Given the description of an element on the screen output the (x, y) to click on. 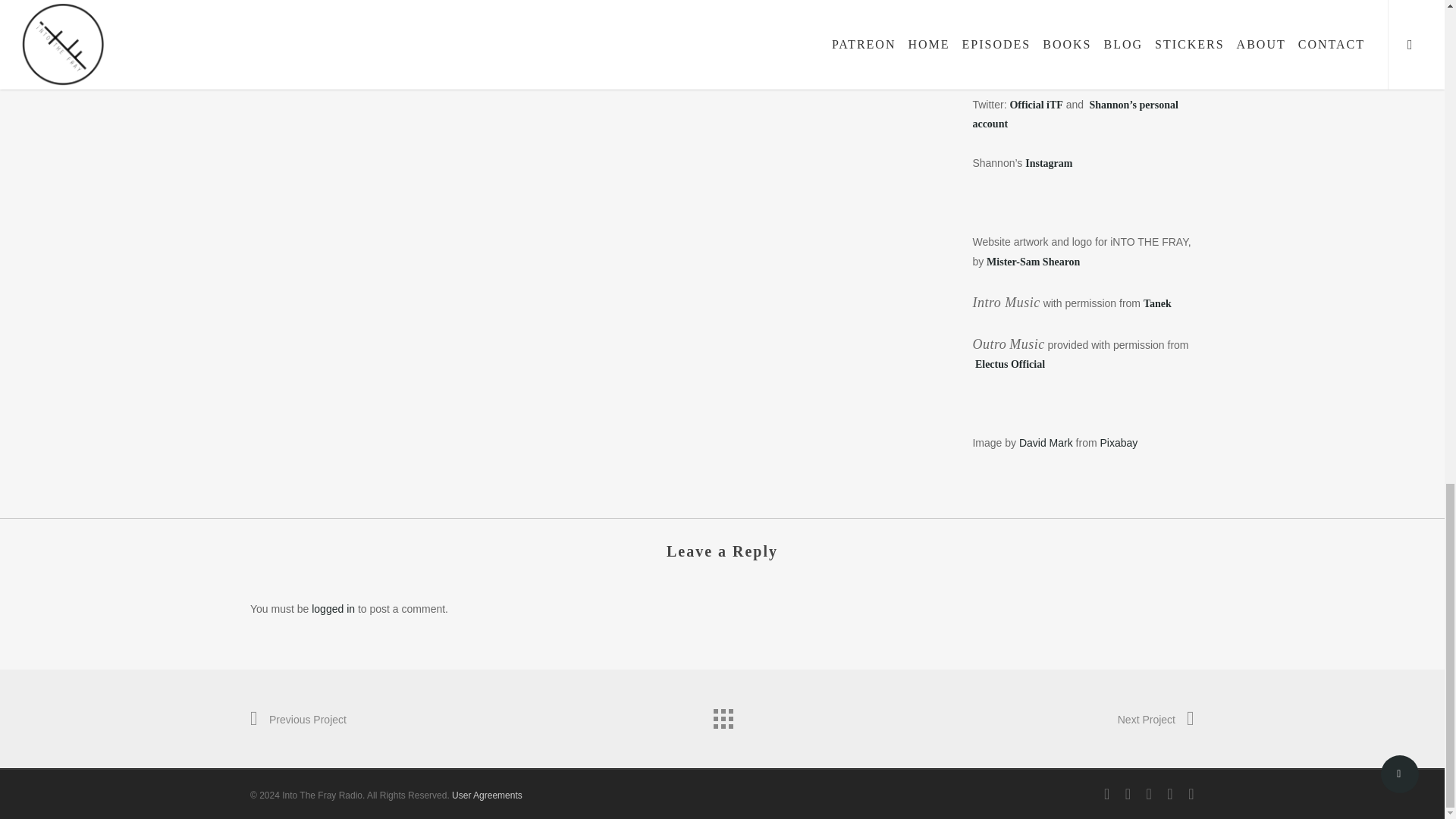
Previous Project (298, 719)
Instagram (1048, 162)
Back to all projects (721, 715)
logged in (333, 608)
interactive group (1103, 45)
Tanek (1157, 303)
Mister-Sam Shearon (1033, 260)
Next Project (1155, 719)
 Electus Official (1008, 363)
official iTF page  (1028, 64)
